Given the description of an element on the screen output the (x, y) to click on. 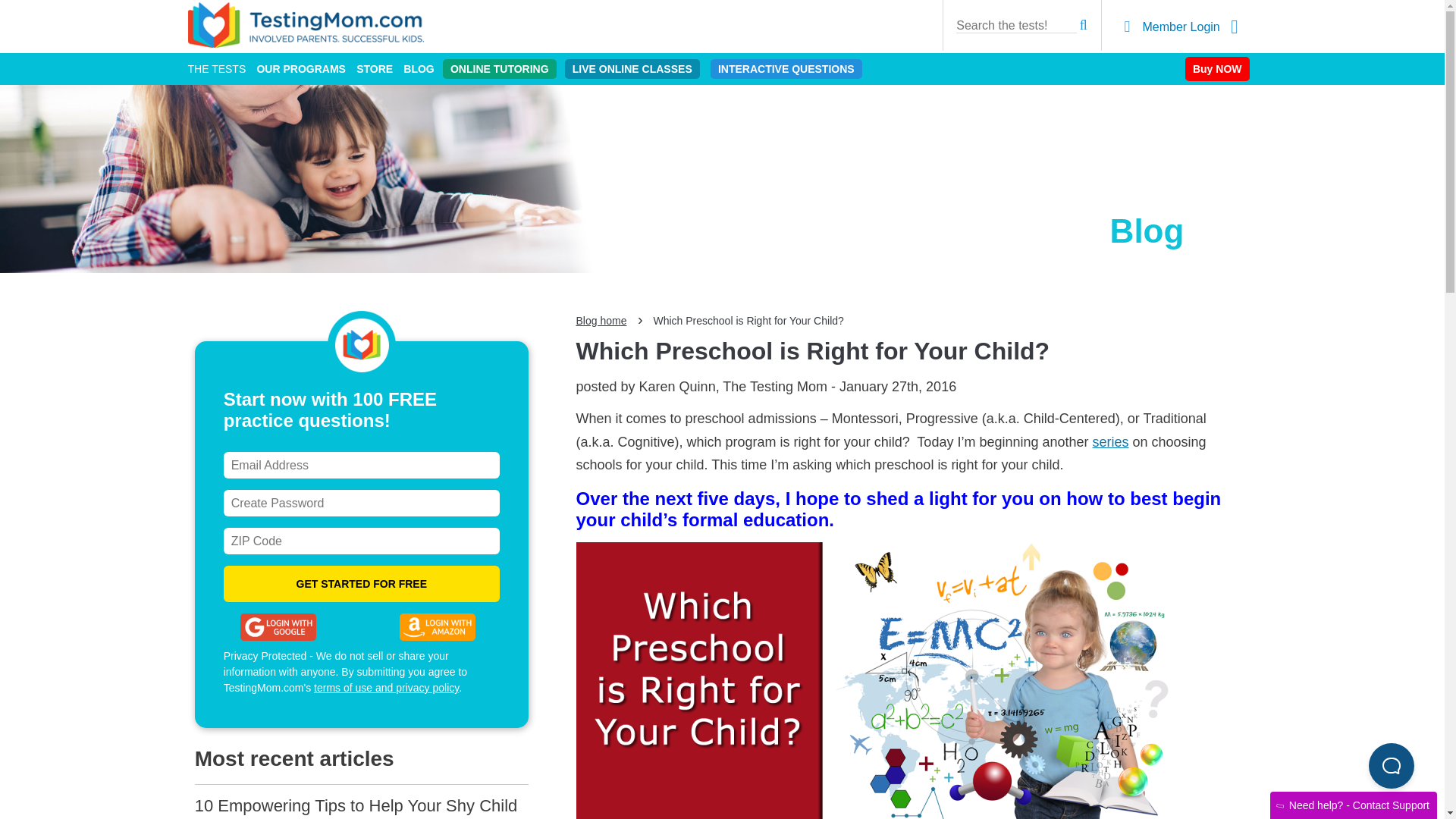
THE TESTS (216, 69)
Member Login (1180, 26)
Blog home (601, 320)
INTERACTIVE QUESTIONS (785, 68)
series (1111, 441)
STORE (374, 69)
OUR PROGRAMS (300, 69)
Buy NOW (1217, 68)
BLOG (418, 69)
LIVE ONLINE CLASSES (632, 68)
Which Kindergarten to Choose (1111, 441)
ONLINE TUTORING (499, 68)
